Given the description of an element on the screen output the (x, y) to click on. 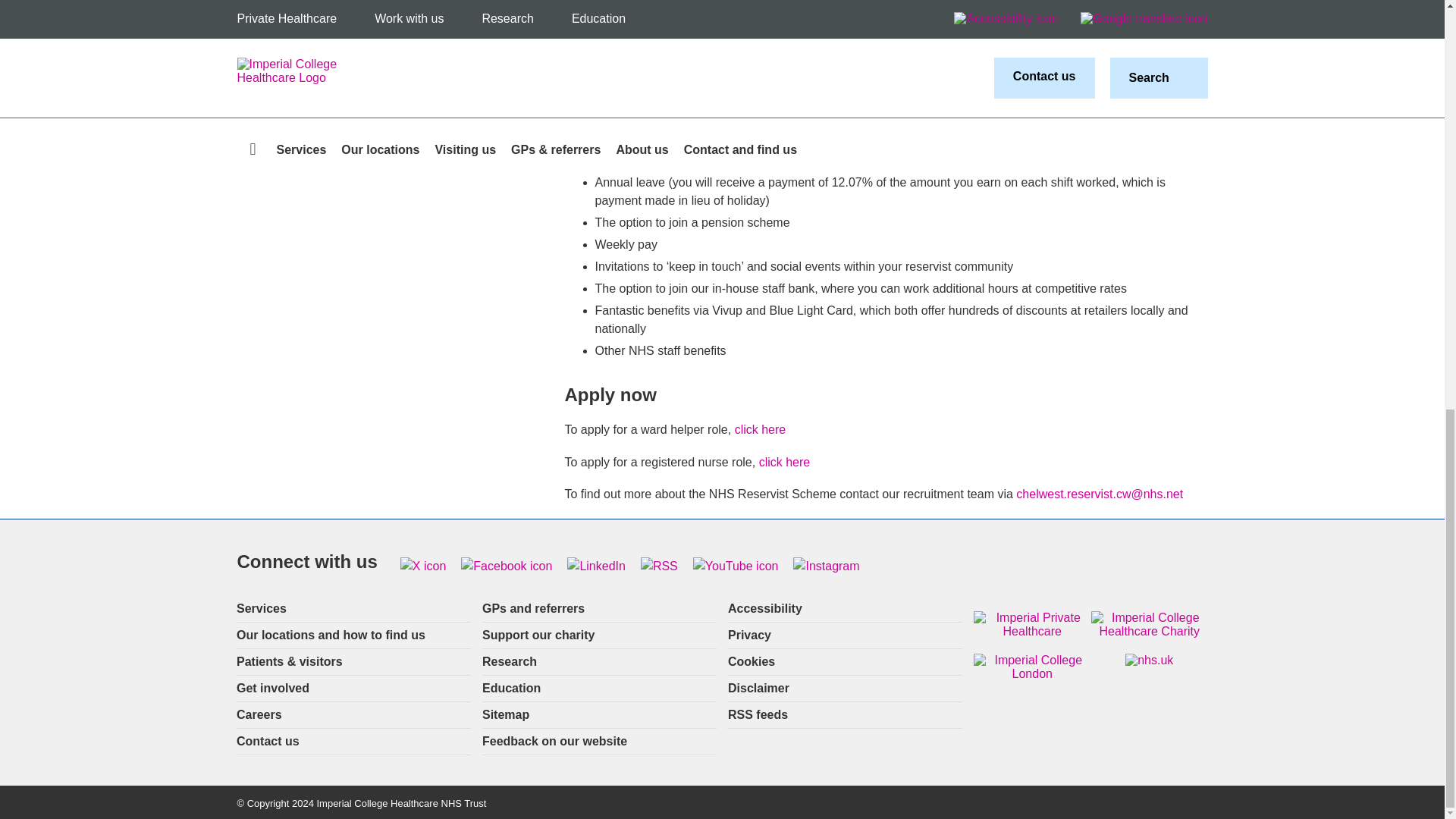
Imperial College Healthcare Private Care (393, 36)
NHS Choices (1149, 660)
Imperial Private healthcare (1032, 624)
charity alternate (1149, 624)
Apprenticeships (393, 9)
